Given the description of an element on the screen output the (x, y) to click on. 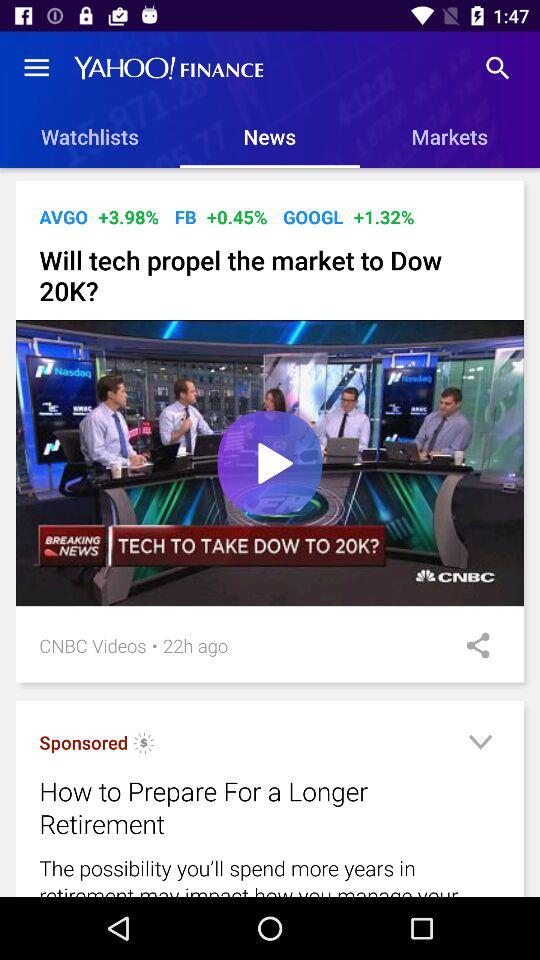
launch icon below the cnbc videos icon (143, 745)
